Given the description of an element on the screen output the (x, y) to click on. 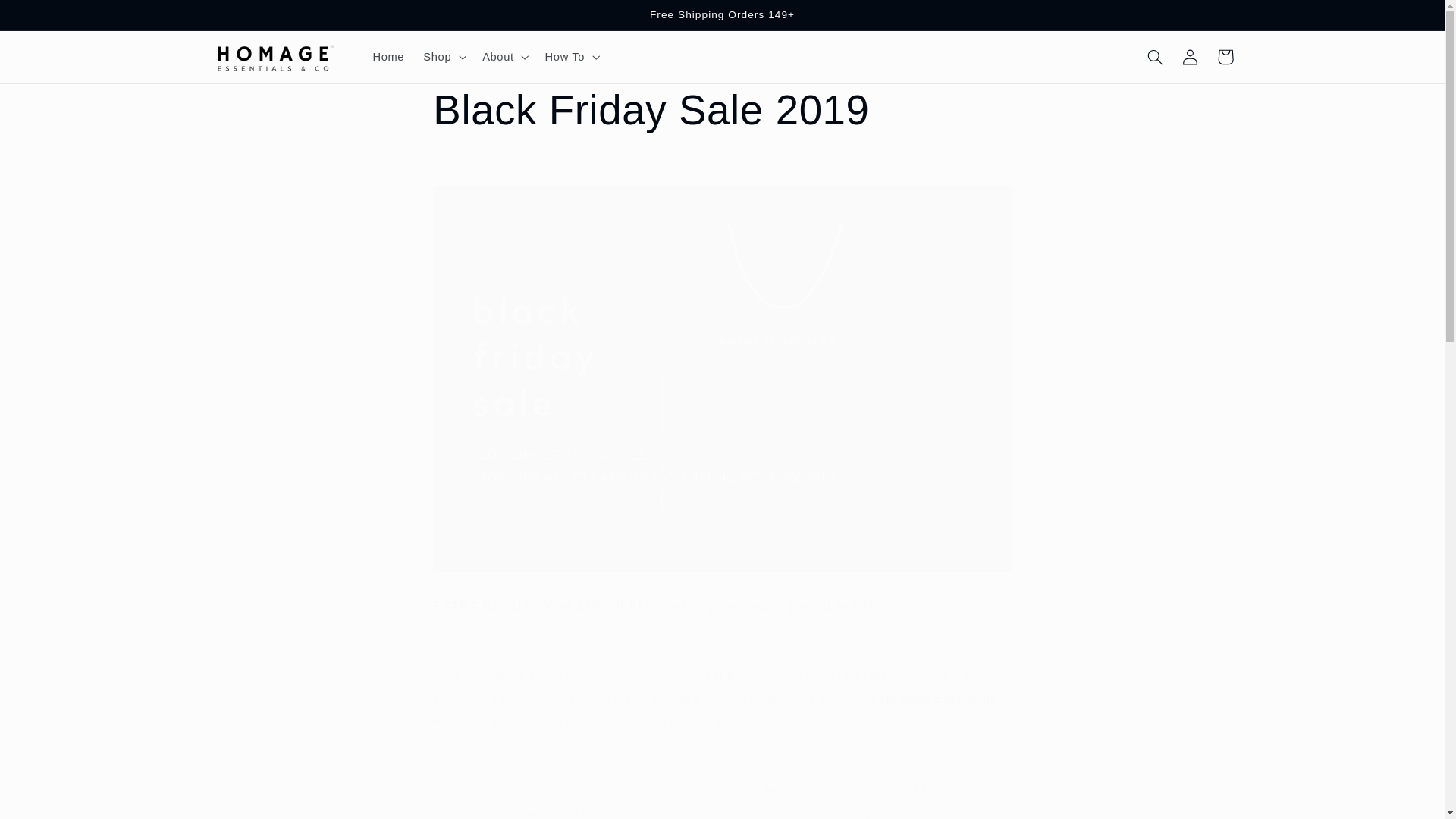
Home (387, 56)
Skip to content (48, 18)
Black Friday Sale 2019 (721, 111)
